Given the description of an element on the screen output the (x, y) to click on. 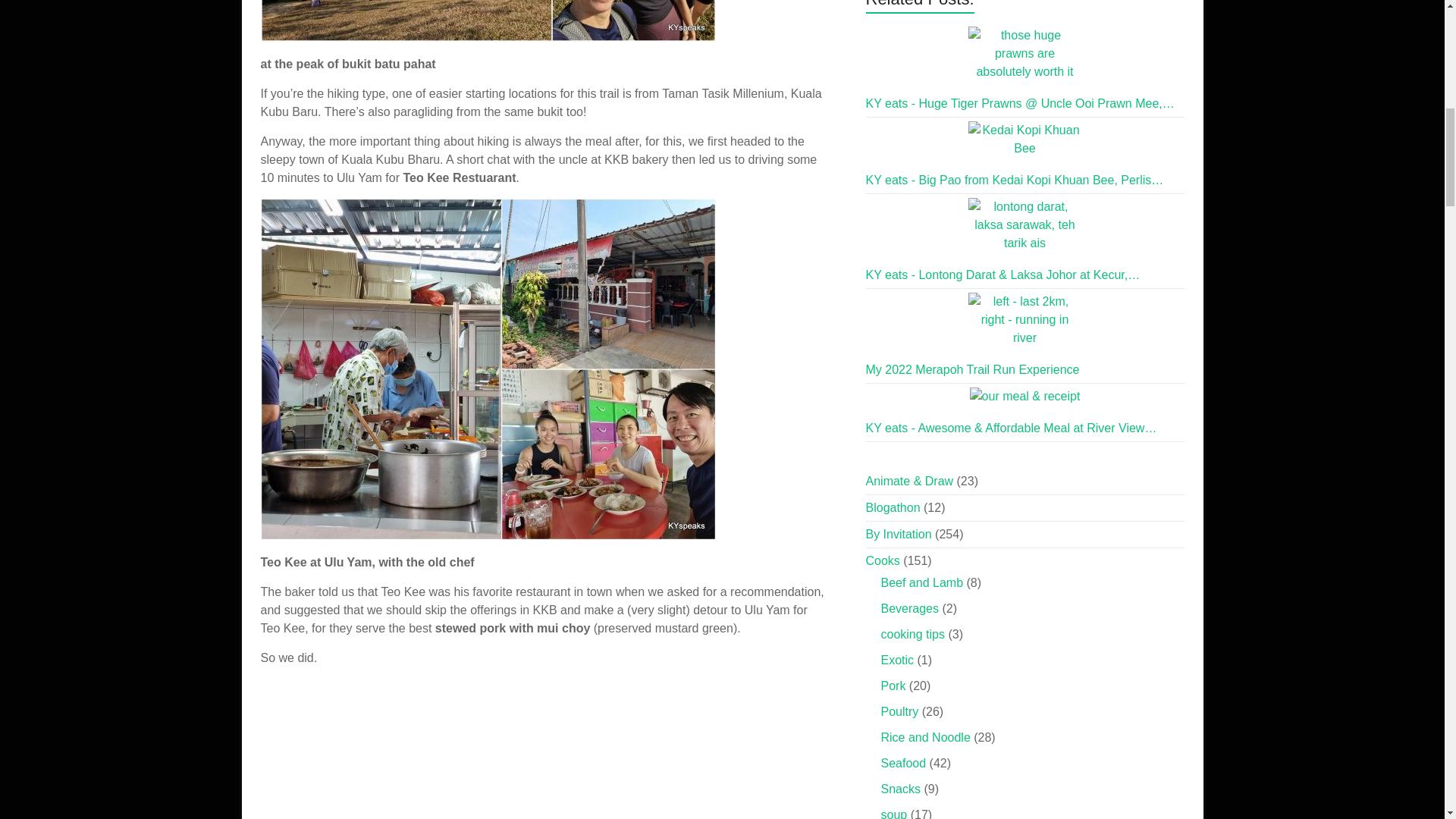
My 2022 Merapoh Trail Run Experience (1024, 319)
YouTube video player (472, 748)
